Given the description of an element on the screen output the (x, y) to click on. 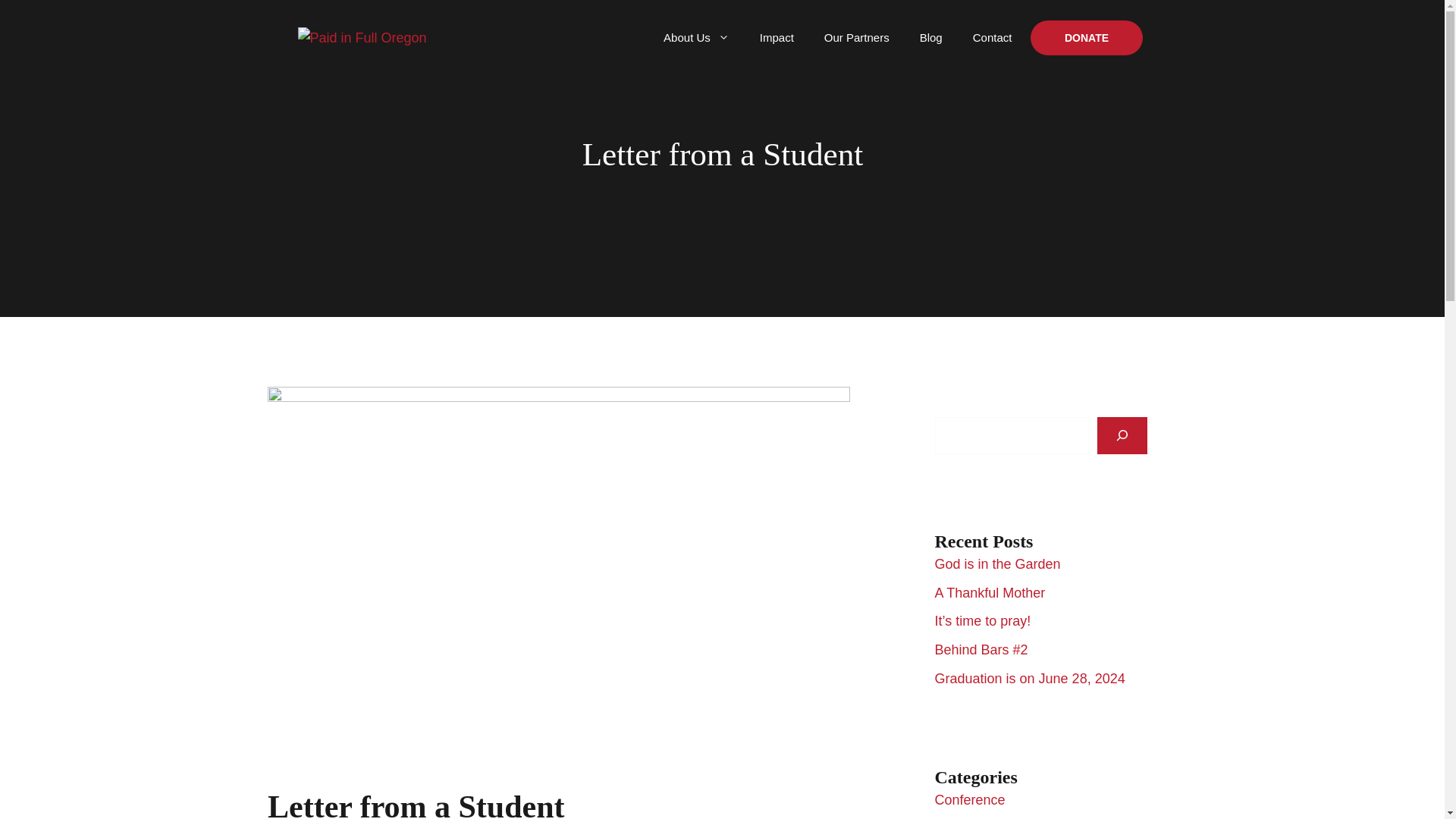
Our Partners (856, 37)
Conference (969, 799)
About Us (695, 37)
DONATE (1086, 37)
A Thankful Mother (989, 592)
Paid in Full Oregon (361, 38)
Contact (992, 37)
Paid in Full Oregon (361, 37)
God is in the Garden (996, 563)
Impact (776, 37)
